Given the description of an element on the screen output the (x, y) to click on. 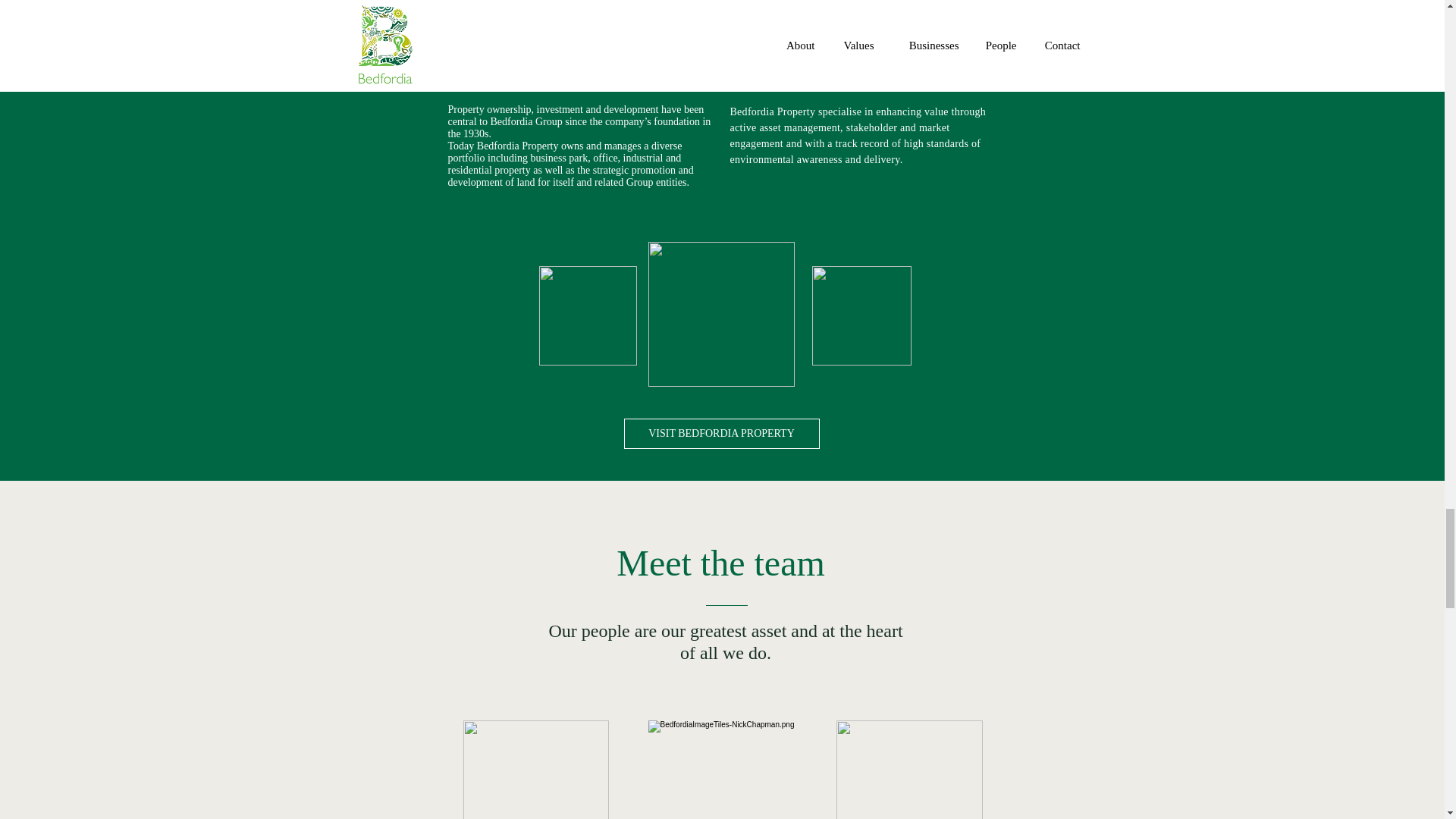
VISIT BEDFORDIA PROPERTY (720, 433)
